Given the description of an element on the screen output the (x, y) to click on. 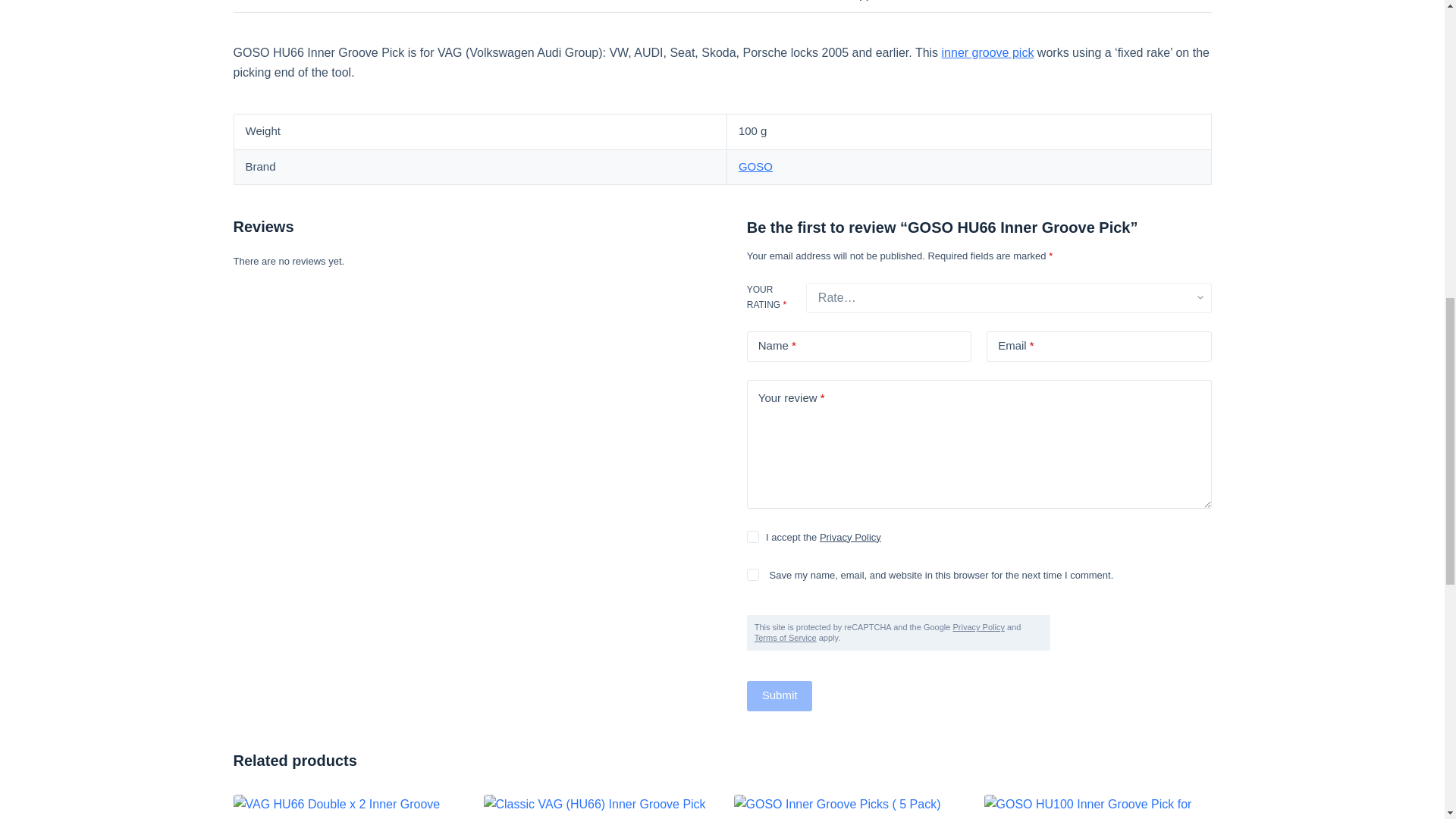
yes (752, 574)
on (752, 536)
